Given the description of an element on the screen output the (x, y) to click on. 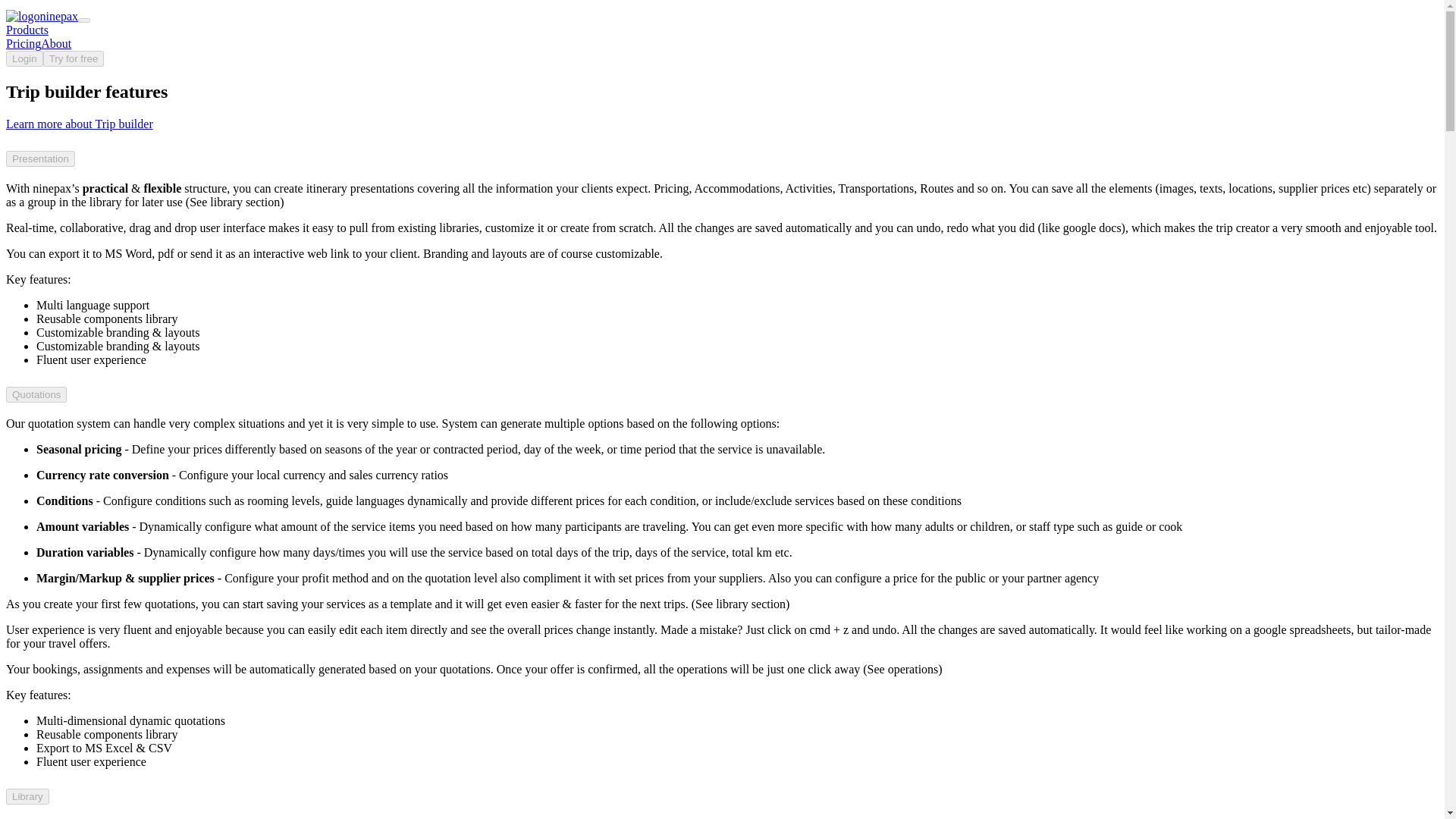
Pricing (22, 42)
Library (27, 796)
Login (24, 58)
ninepax (41, 15)
Products (26, 29)
Presentation (40, 158)
About (55, 42)
Quotations (35, 394)
Learn more about Trip builder (78, 123)
Try for free (73, 58)
